Given the description of an element on the screen output the (x, y) to click on. 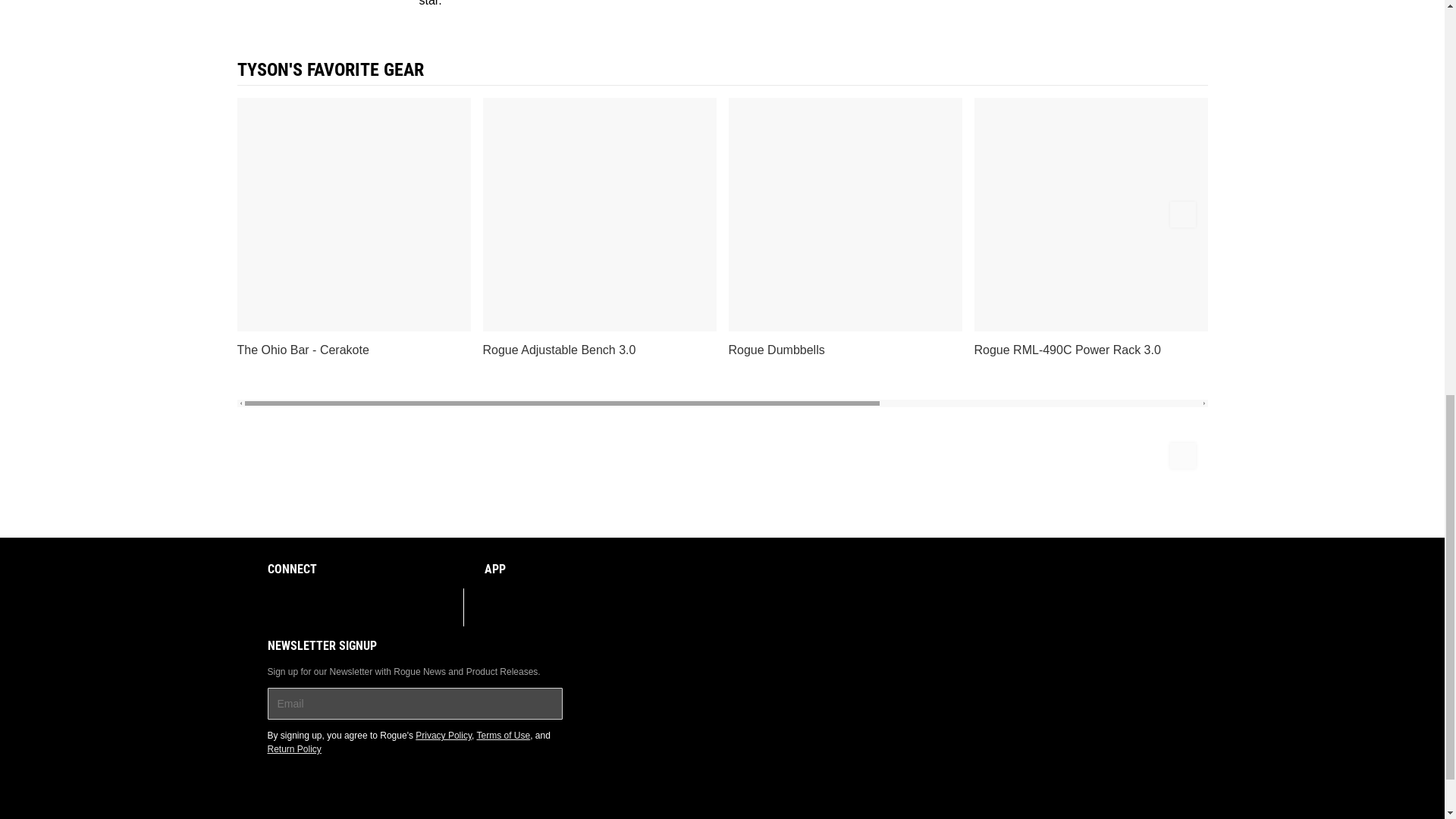
Rogue RML-490C Power Rack 3.0 (1090, 227)
Return Policy (293, 748)
Rogue Adjustable Bench 3.0 (598, 227)
Rogue Dumbbells (844, 227)
Terms of Use (502, 735)
The Ohio Bar - Cerakote (352, 227)
Privacy Policy (442, 735)
